Given the description of an element on the screen output the (x, y) to click on. 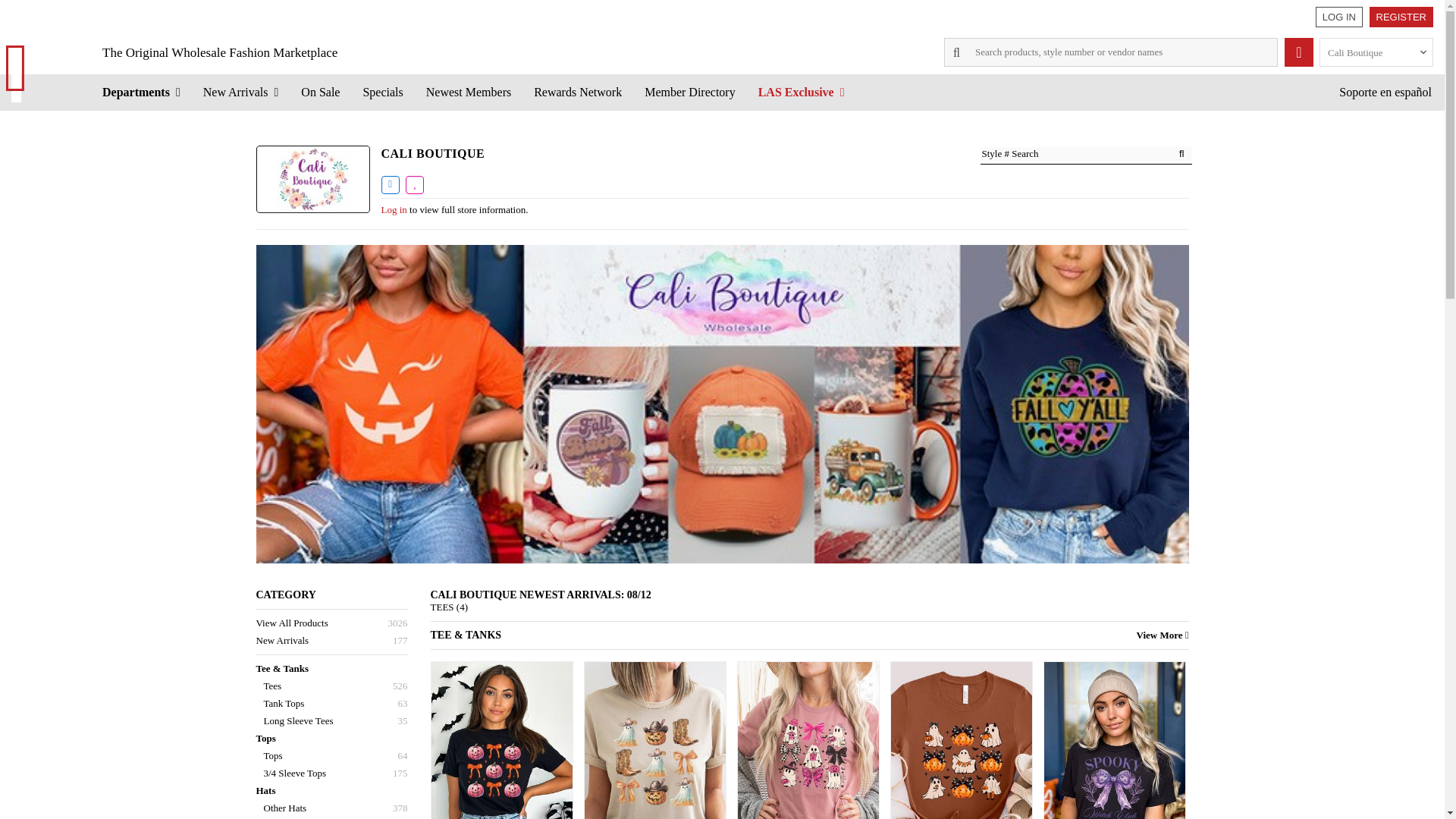
REGISTER (1401, 16)
Rewards Network (577, 91)
Departments   (140, 91)
LOG IN (1339, 16)
